Given the description of an element on the screen output the (x, y) to click on. 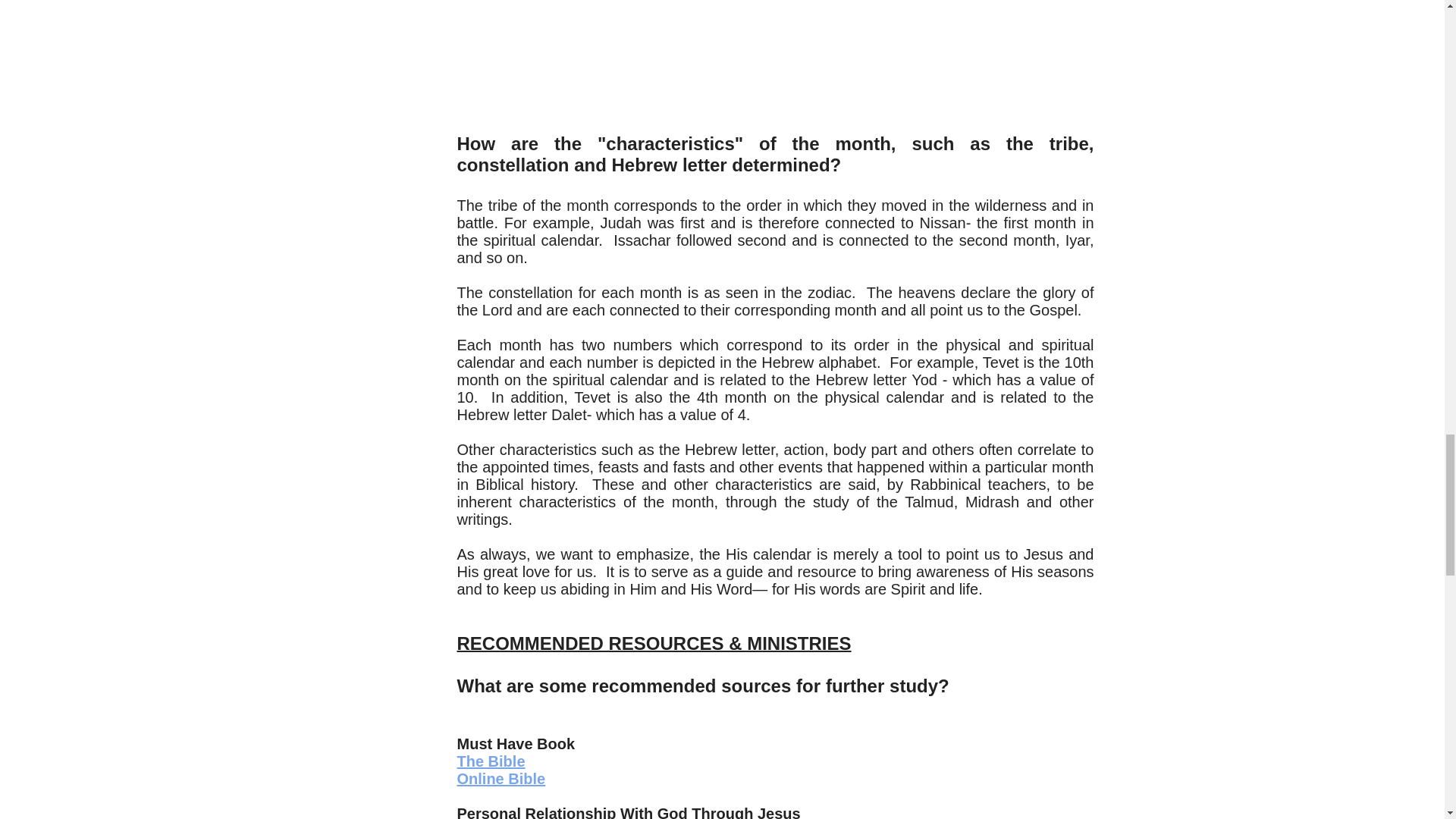
Must Have Book (516, 743)
The Bible (490, 760)
Online Bible (500, 778)
